Given the description of an element on the screen output the (x, y) to click on. 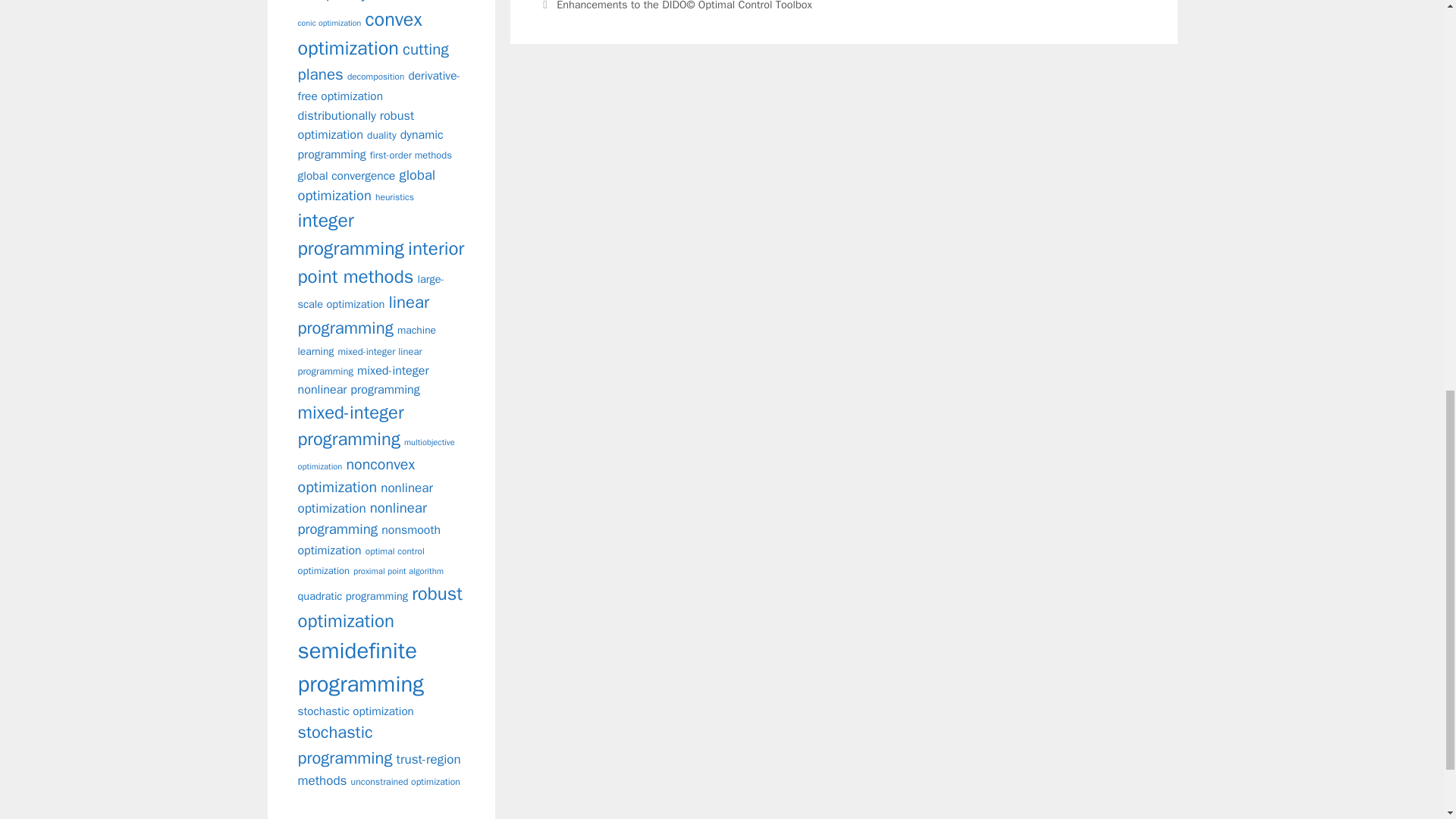
compressed sensing (407, 0)
conic optimization (329, 22)
complexity (331, 1)
convex optimization (359, 33)
Next (675, 5)
